Given the description of an element on the screen output the (x, y) to click on. 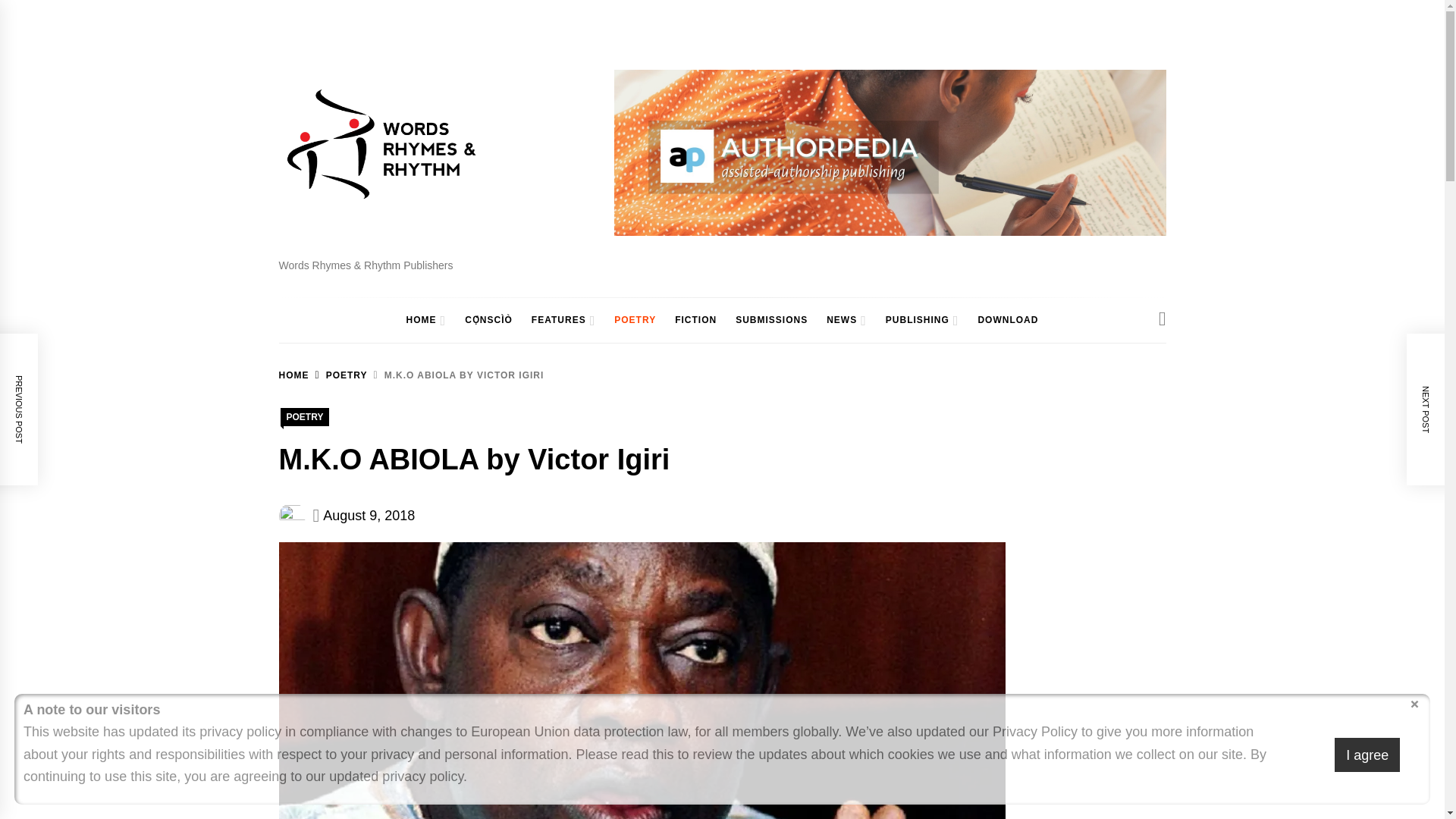
FICTION (694, 320)
POETRY (305, 416)
M.K.O ABIOLA BY VICTOR IGIRI (456, 375)
Header Advertise (890, 152)
DOWNLOAD (1007, 320)
POETRY (338, 375)
SUBMISSIONS (771, 320)
FEATURES (555, 320)
PUBLISHING (913, 320)
August 9, 2018 (368, 515)
POETRY (635, 320)
HOME (293, 375)
